Given the description of an element on the screen output the (x, y) to click on. 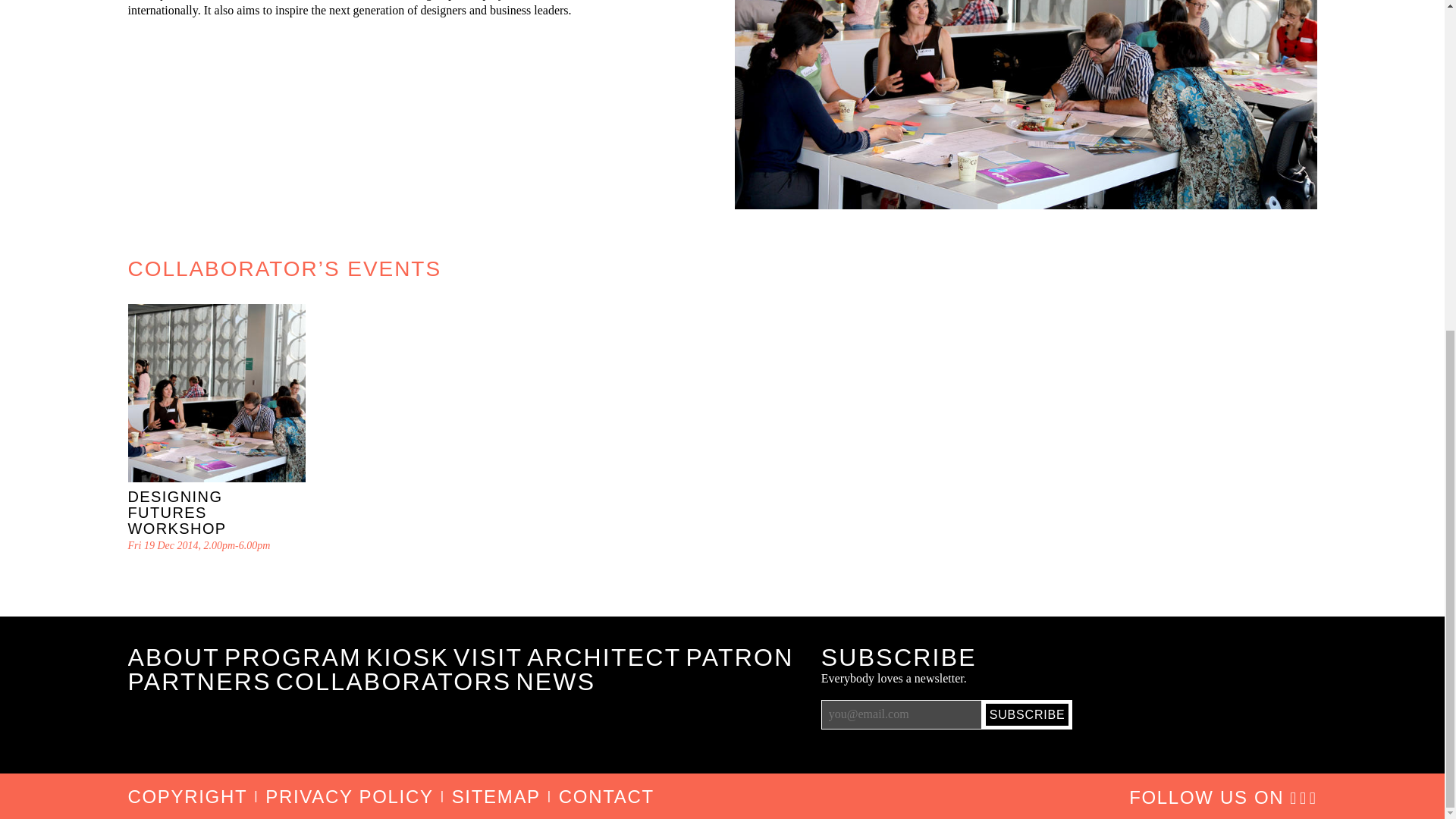
PRIVACY POLICY (348, 796)
SITEMAP (495, 796)
SUBSCRIBE (1027, 714)
Designing Futures workshop (216, 392)
COLLABORATORS (394, 681)
PROGRAM (292, 657)
ARCHITECT (604, 657)
PARTNERS (199, 681)
PATRON (739, 657)
KIOSK (407, 657)
